Given the description of an element on the screen output the (x, y) to click on. 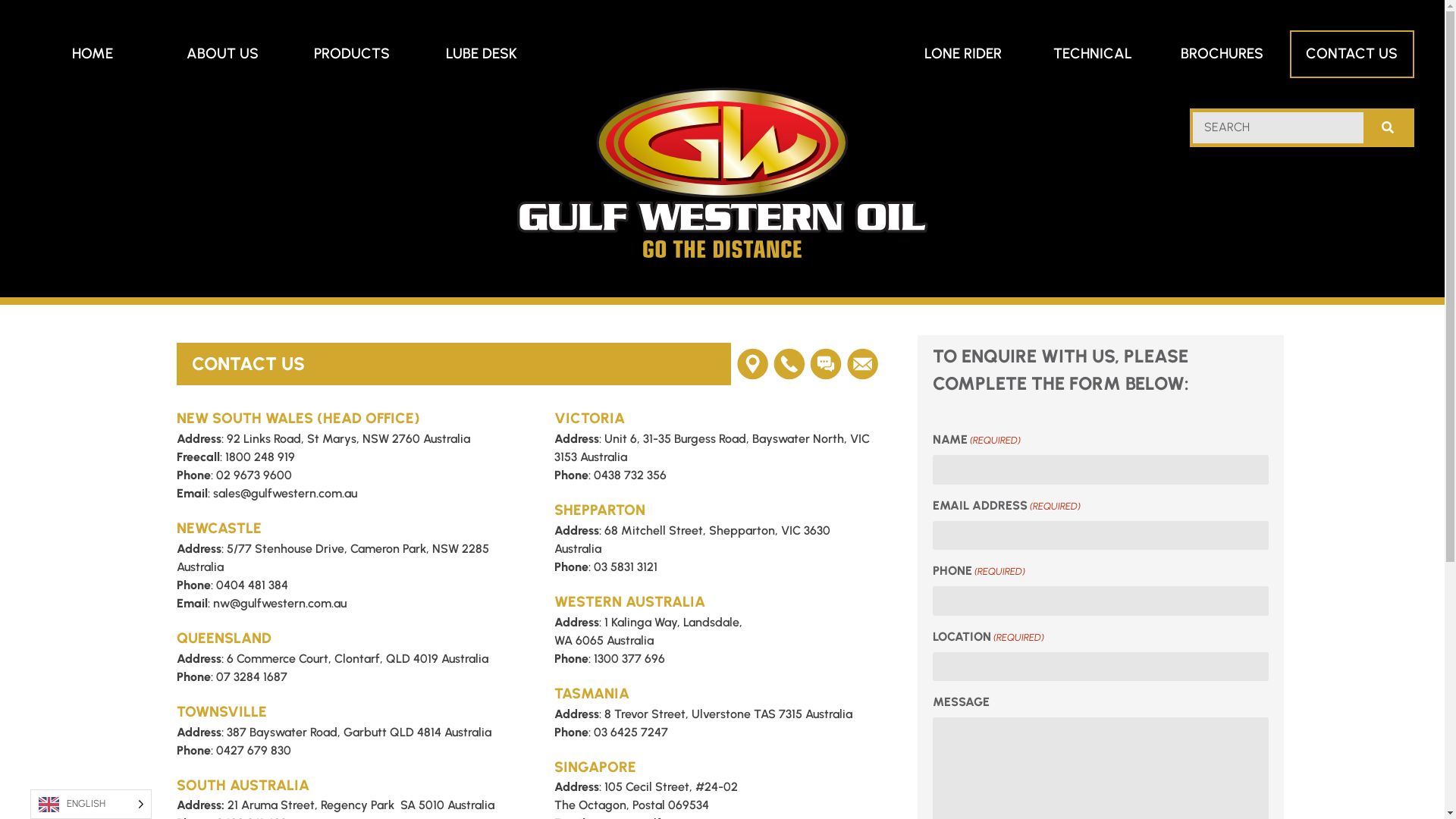
BROCHURES Element type: text (1222, 53)
PRODUCTS Element type: text (351, 53)
ABOUT US Element type: text (222, 53)
LONE RIDER Element type: text (962, 53)
LUBE DESK Element type: text (481, 53)
TECHNICAL Element type: text (1092, 53)
CONTACT US Element type: text (1351, 54)
HOME Element type: text (92, 53)
